Given the description of an element on the screen output the (x, y) to click on. 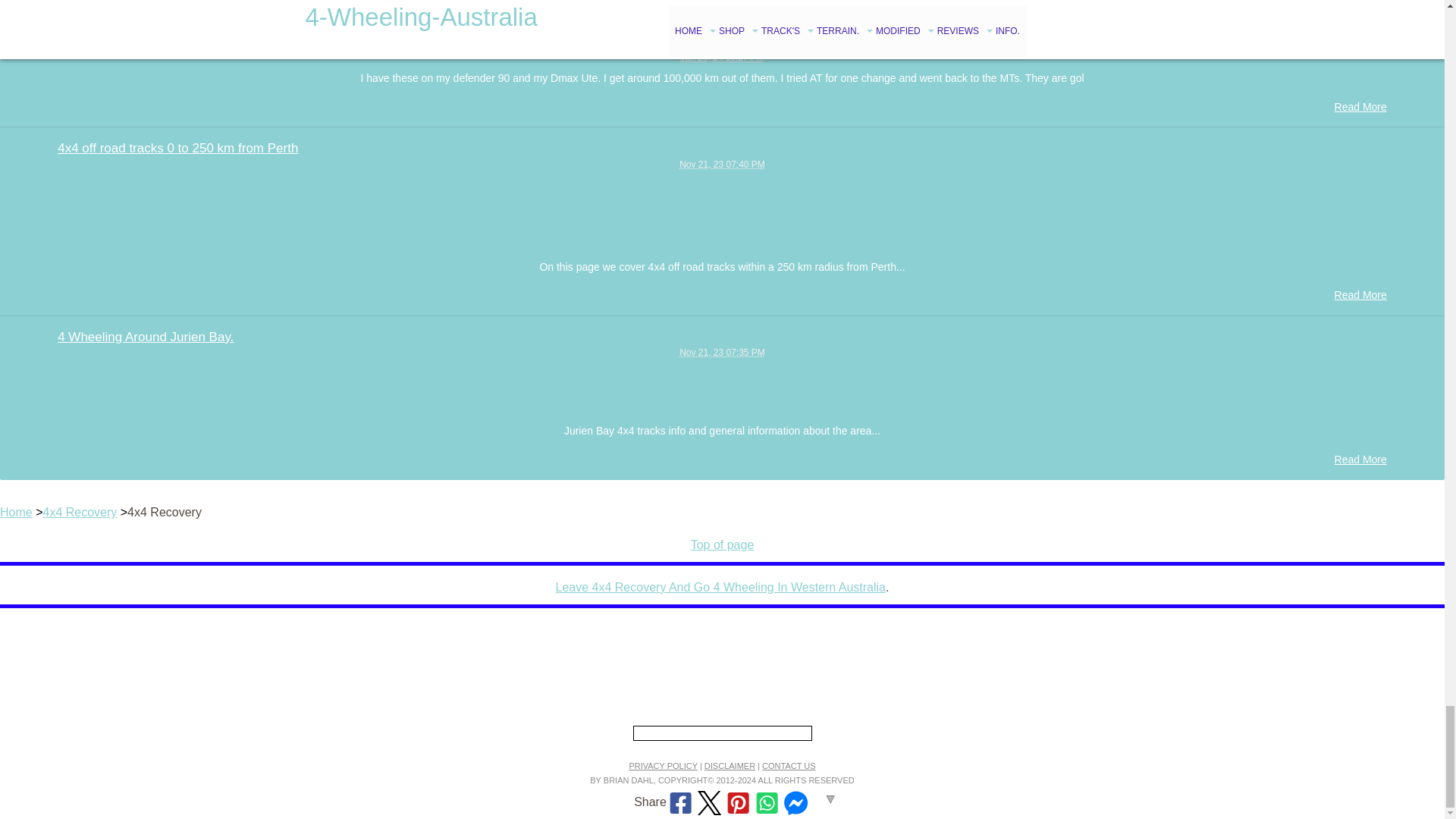
Copyscape, do not copy (720, 733)
2023-11-21T19:35:33-0500 (722, 352)
2023-11-21T19:40:05-0500 (722, 163)
2024-06-28T22:27:38-0400 (721, 57)
